Given the description of an element on the screen output the (x, y) to click on. 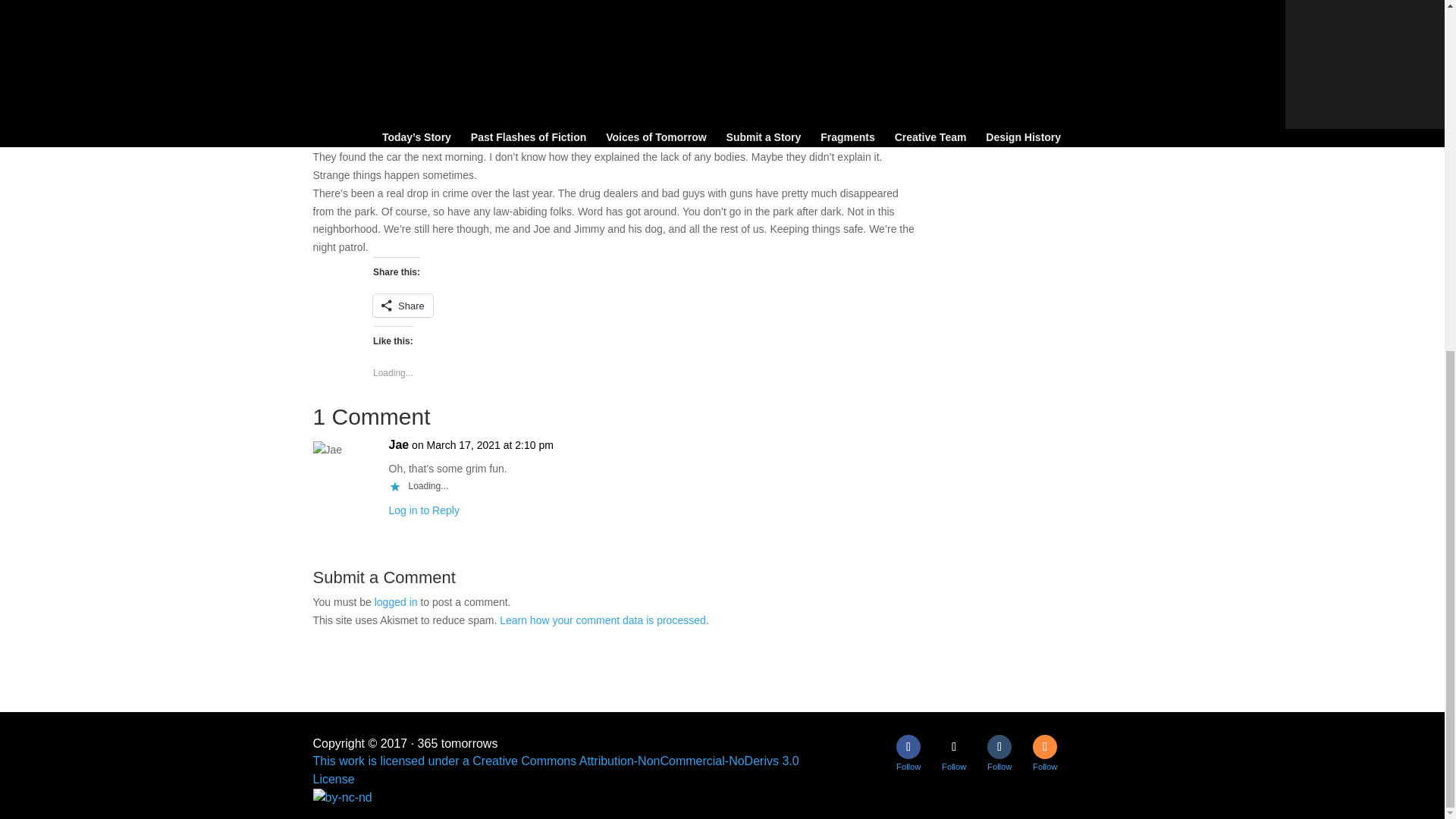
Log in to Reply (423, 510)
Follow on RSS (1044, 746)
Follow (1044, 746)
Follow (908, 746)
Follow (954, 746)
logged in (395, 602)
Follow on Twitter (954, 746)
Learn how your comment data is processed (602, 620)
Follow on tumblr (999, 746)
Jae (398, 444)
Follow (999, 746)
Follow on Facebook (908, 746)
Share (402, 305)
